Given the description of an element on the screen output the (x, y) to click on. 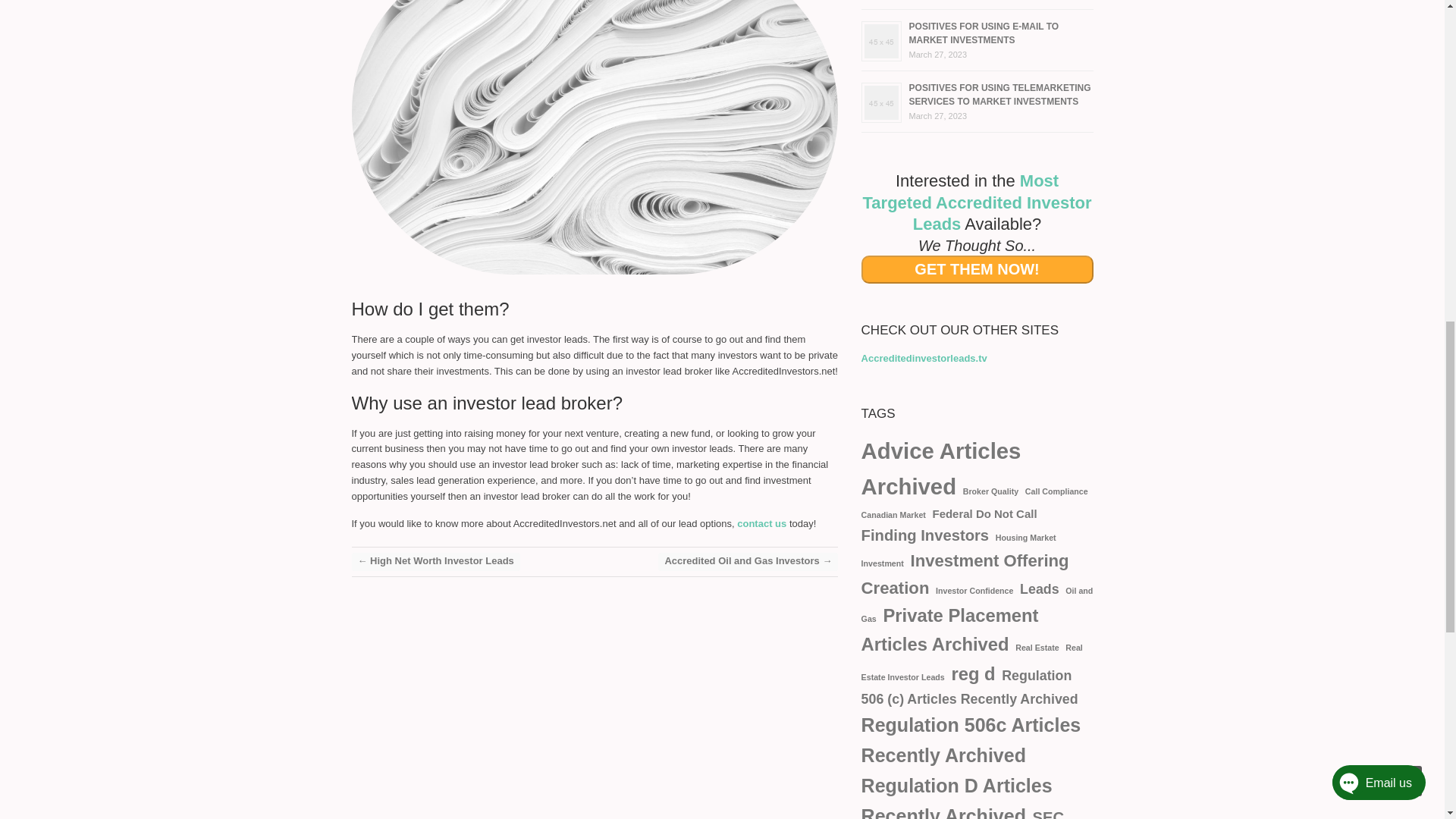
contact us (762, 523)
